Given the description of an element on the screen output the (x, y) to click on. 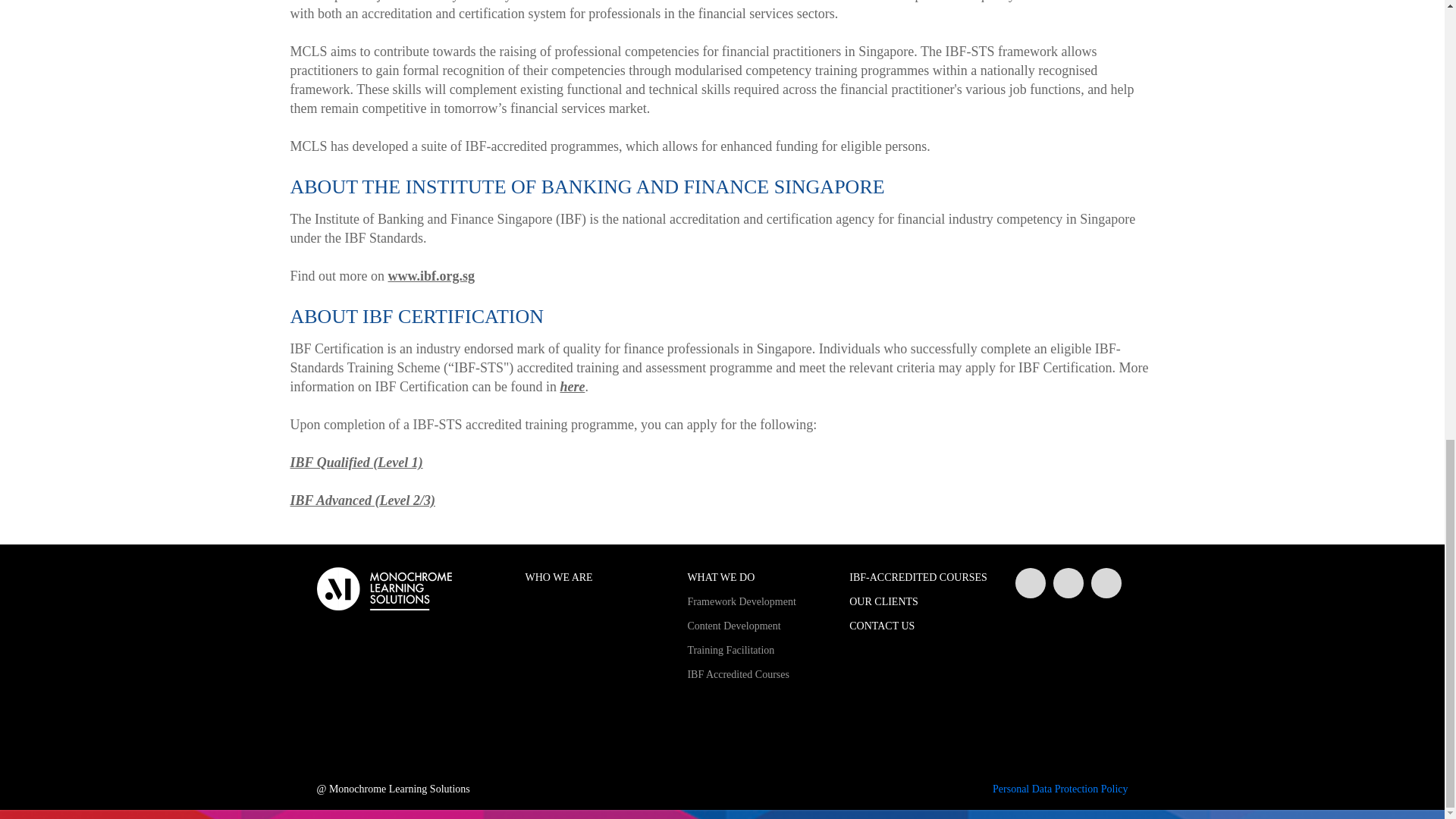
WHO WE ARE (593, 577)
www.ibf.org.sg (432, 275)
WHAT WE DO (757, 577)
Framework Development (757, 602)
Content Development (757, 625)
here (572, 386)
